Given the description of an element on the screen output the (x, y) to click on. 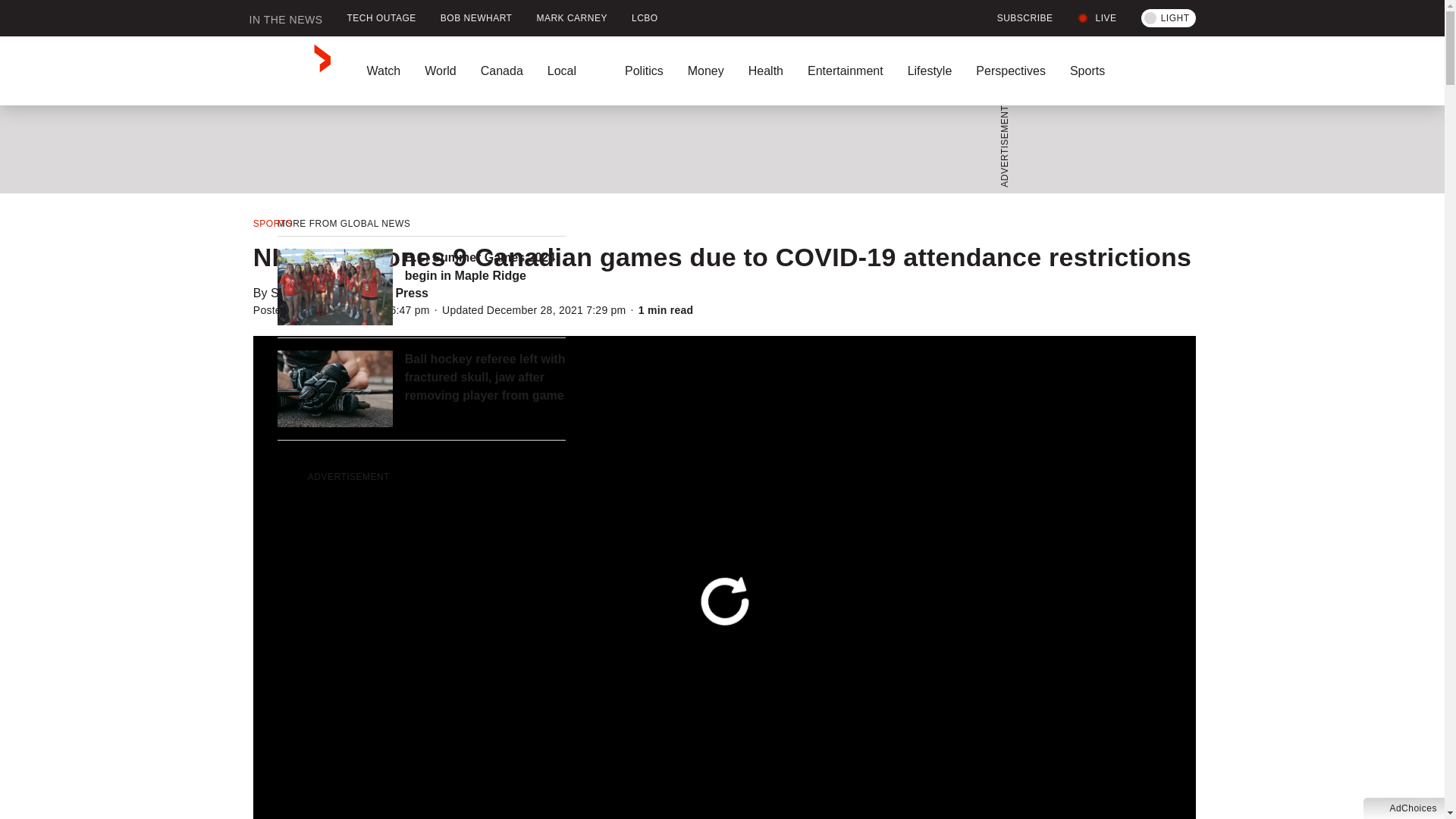
Lifestyle (929, 70)
LCBO (644, 18)
Local (573, 70)
Politics (643, 70)
TECH OUTAGE (381, 18)
GlobalNews home (289, 70)
BOB NEWHART (476, 18)
B.C. Summer Games 2024 begin in Maple Ridge (485, 266)
Perspectives (1010, 70)
SUBSCRIBE (1015, 18)
MARK CARNEY (572, 18)
Canada (501, 70)
3rd party ad content (716, 149)
Entertainment (844, 70)
